Given the description of an element on the screen output the (x, y) to click on. 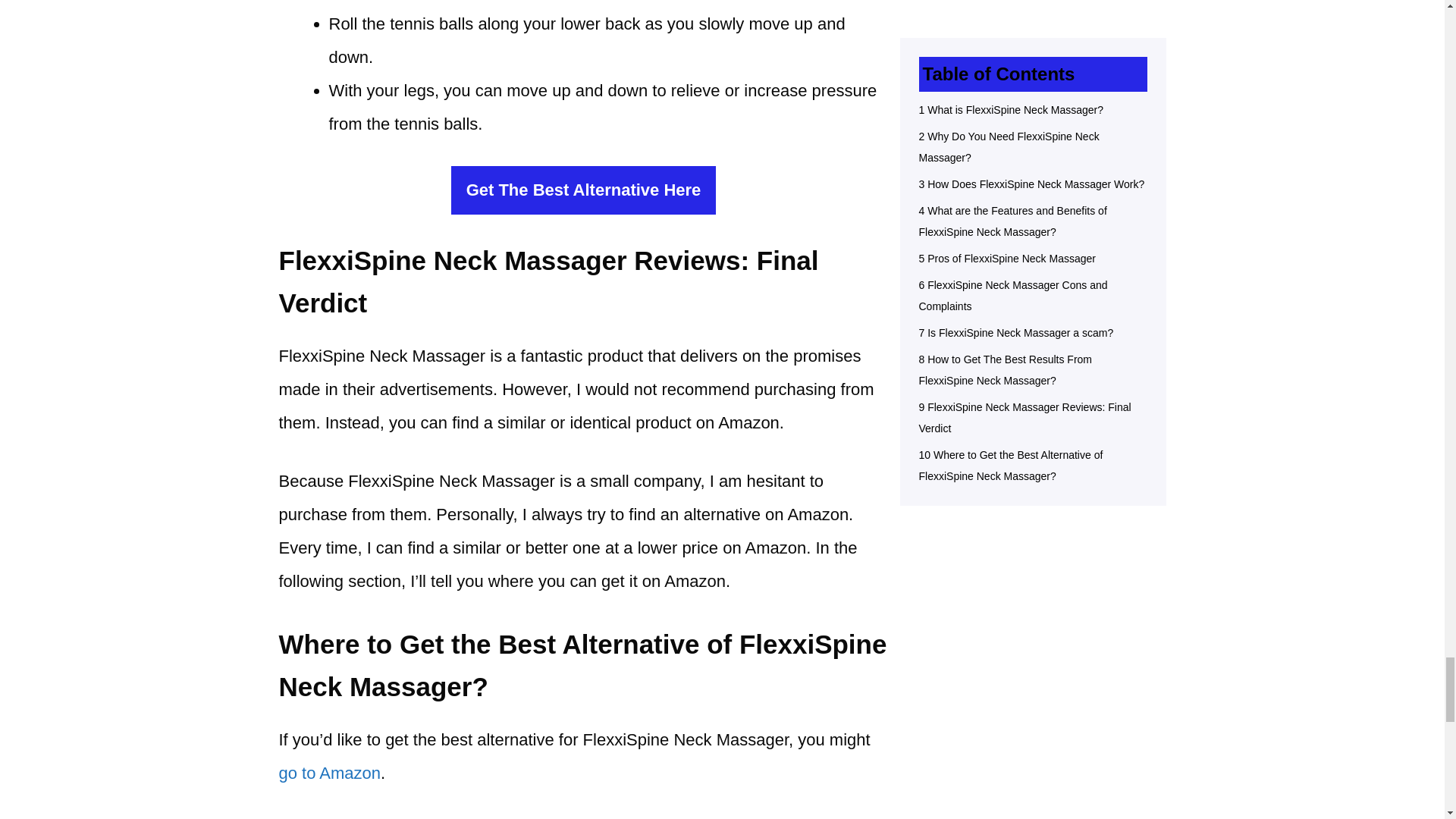
Get The Best Alternative Here (583, 190)
go to Amazon (330, 772)
